Given the description of an element on the screen output the (x, y) to click on. 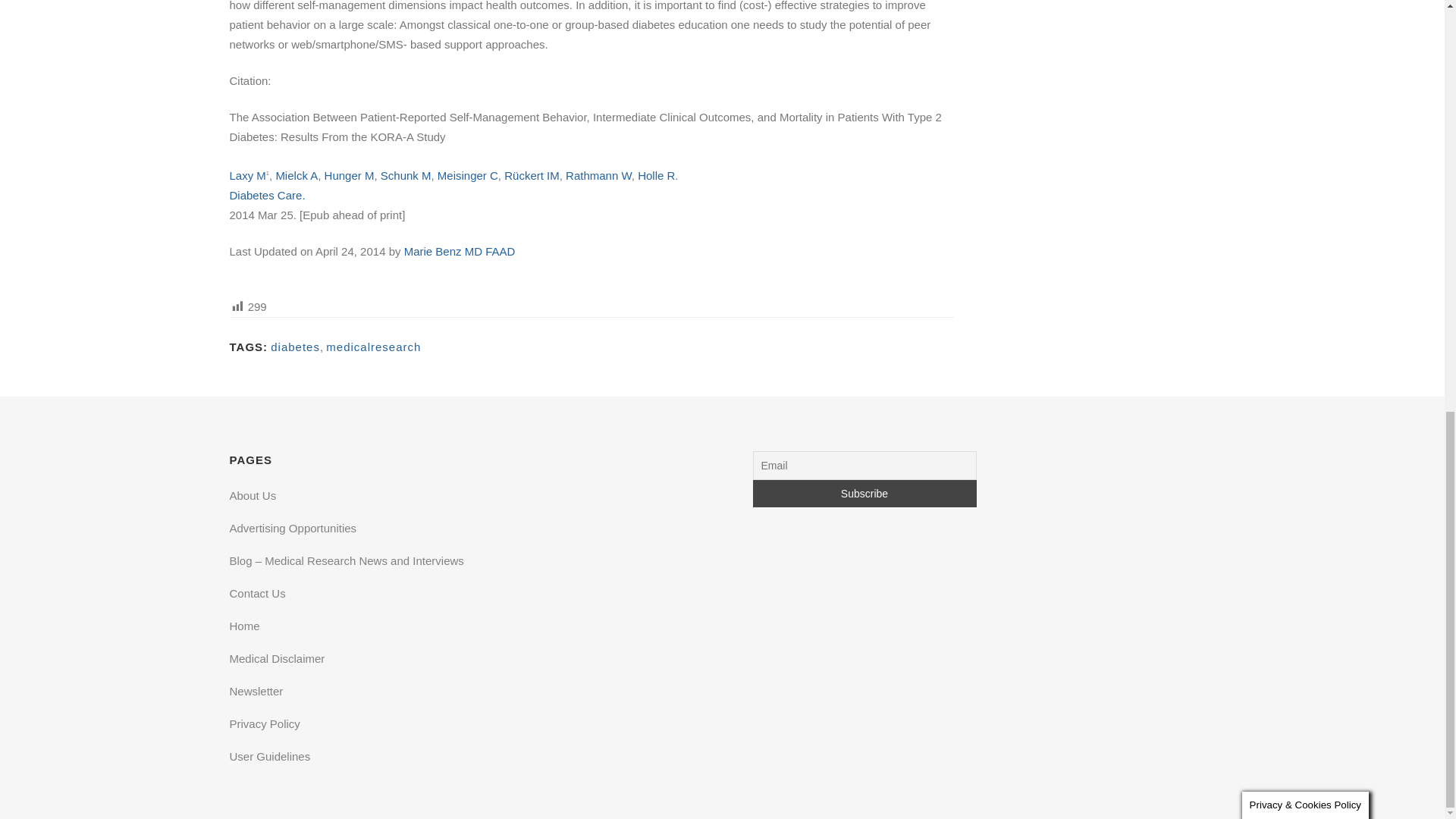
Subscribe (863, 492)
Diabetes care. (266, 195)
